Given the description of an element on the screen output the (x, y) to click on. 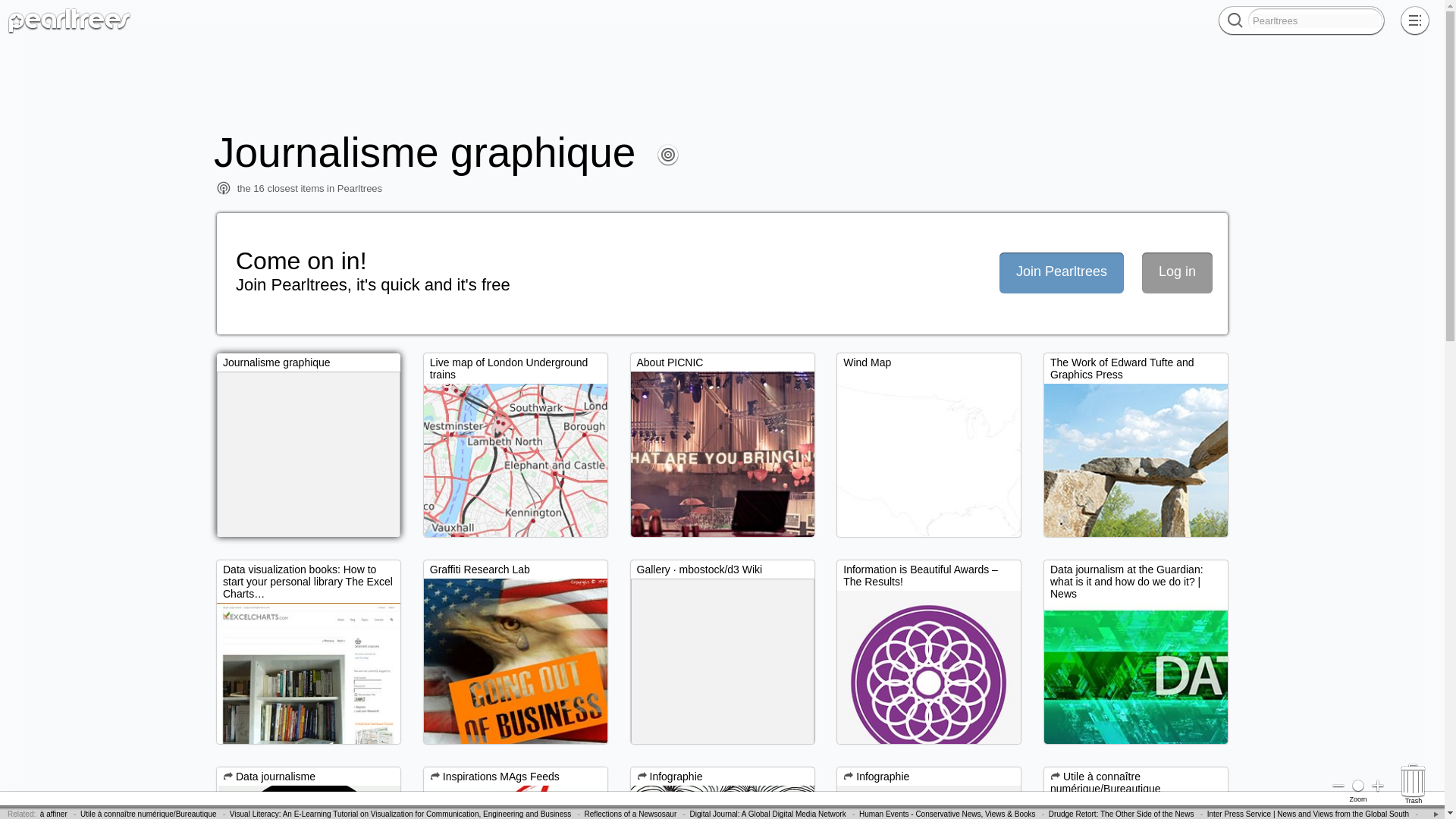
Drudge Retort: The Other Side of the News (1120, 813)
Reflections of a Newsosaur (630, 813)
Digital Journal: A Global Digital Media Network (766, 813)
